Given the description of an element on the screen output the (x, y) to click on. 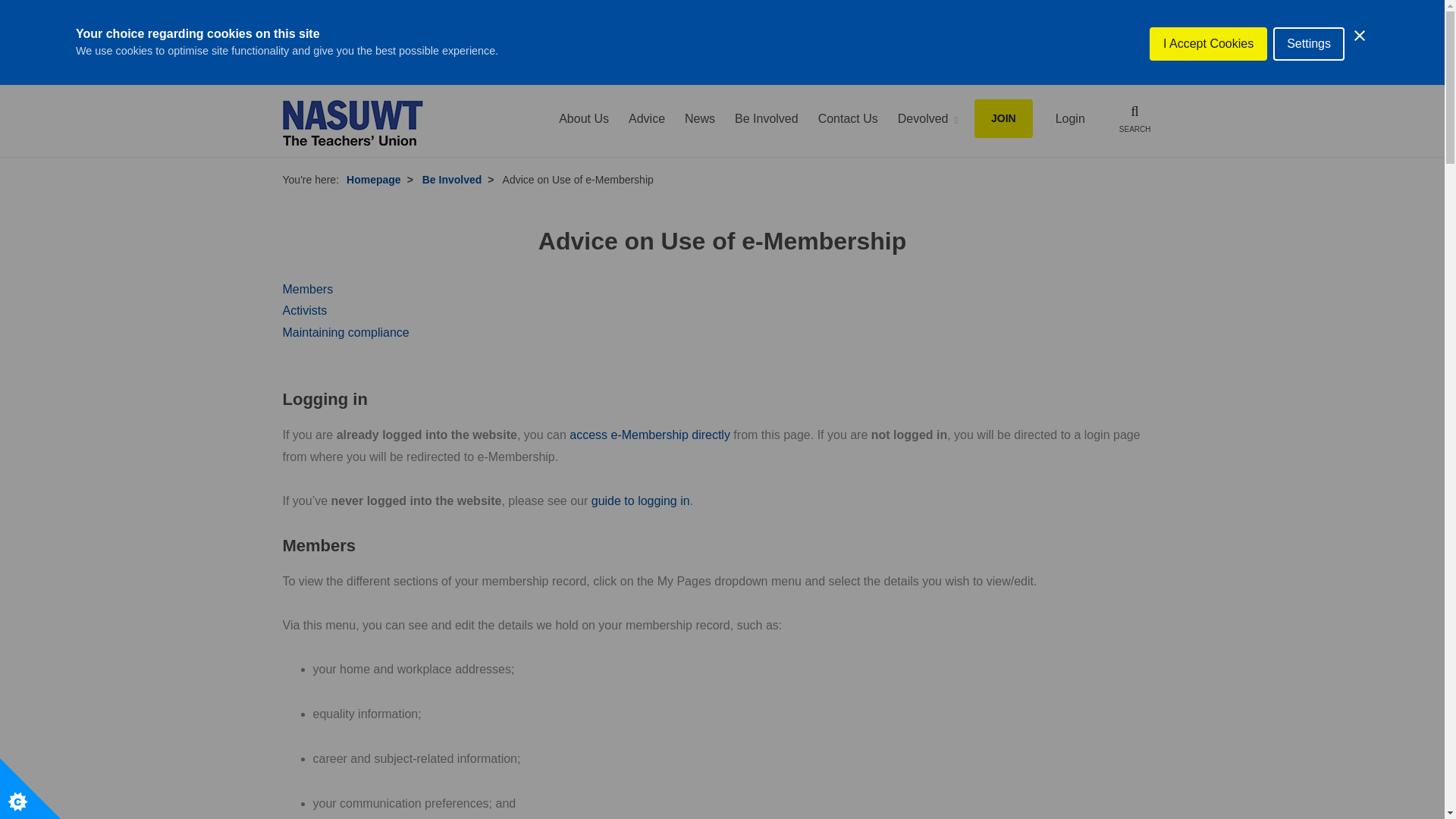
News (699, 117)
I Accept Cookies (1208, 29)
Settings (1307, 32)
CLOSE (1126, 40)
Advice (646, 117)
Be Involved (766, 117)
SAVE (1013, 40)
Login (1070, 118)
SEARCH (1134, 118)
About Us (583, 117)
JOIN (1003, 118)
